Given the description of an element on the screen output the (x, y) to click on. 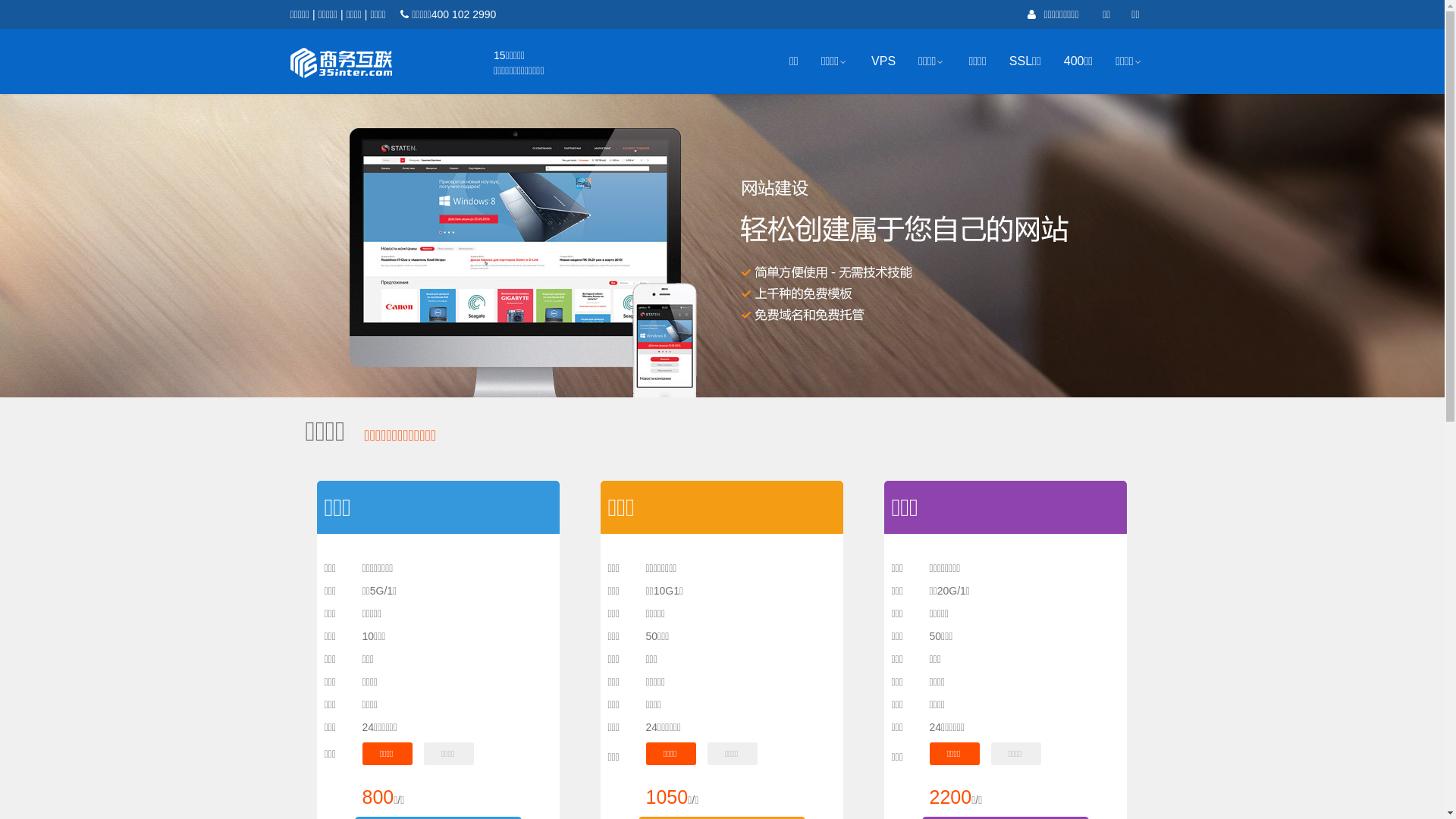
VPS Element type: text (882, 61)
